Given the description of an element on the screen output the (x, y) to click on. 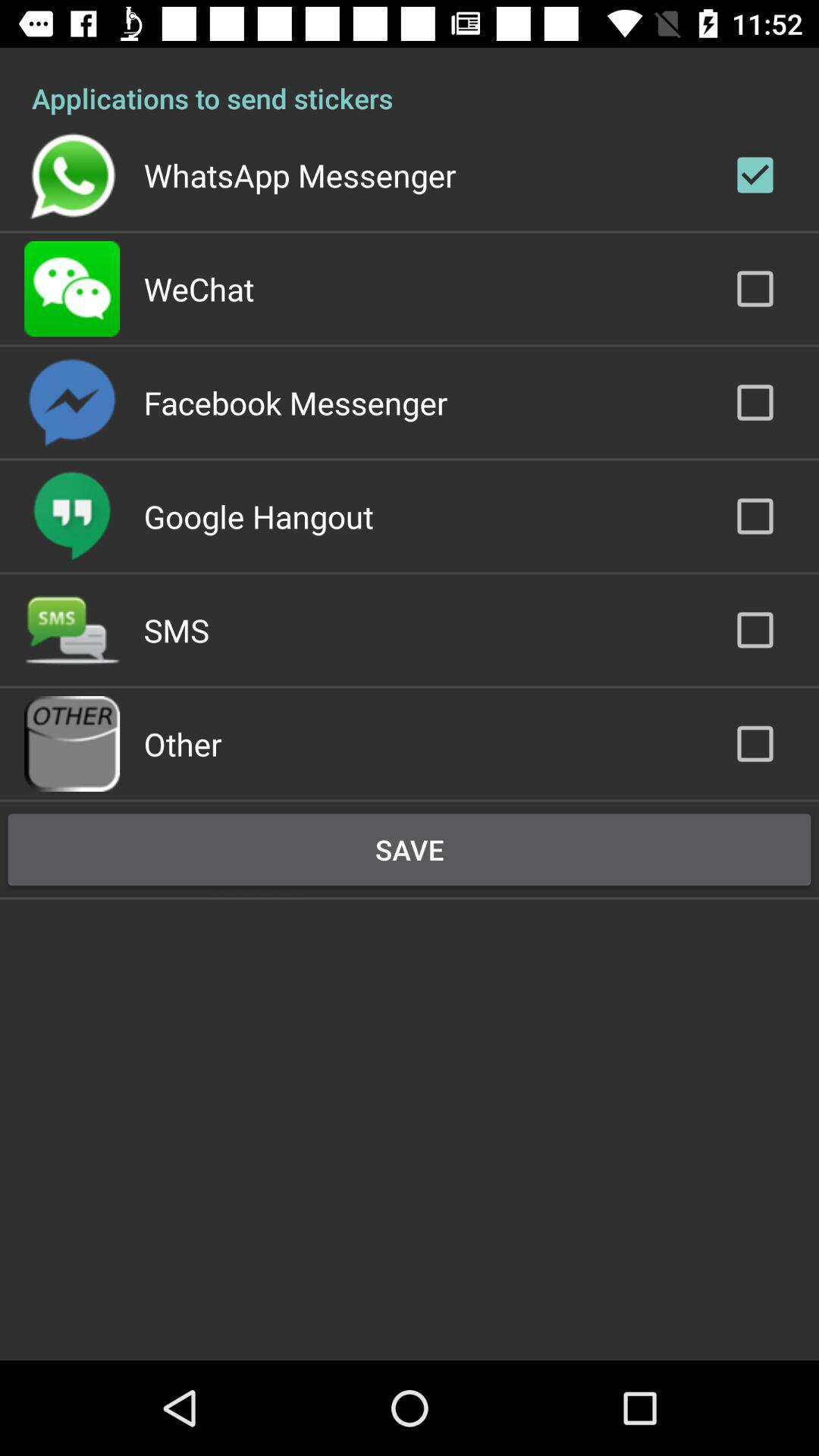
choose the sms item (176, 629)
